Given the description of an element on the screen output the (x, y) to click on. 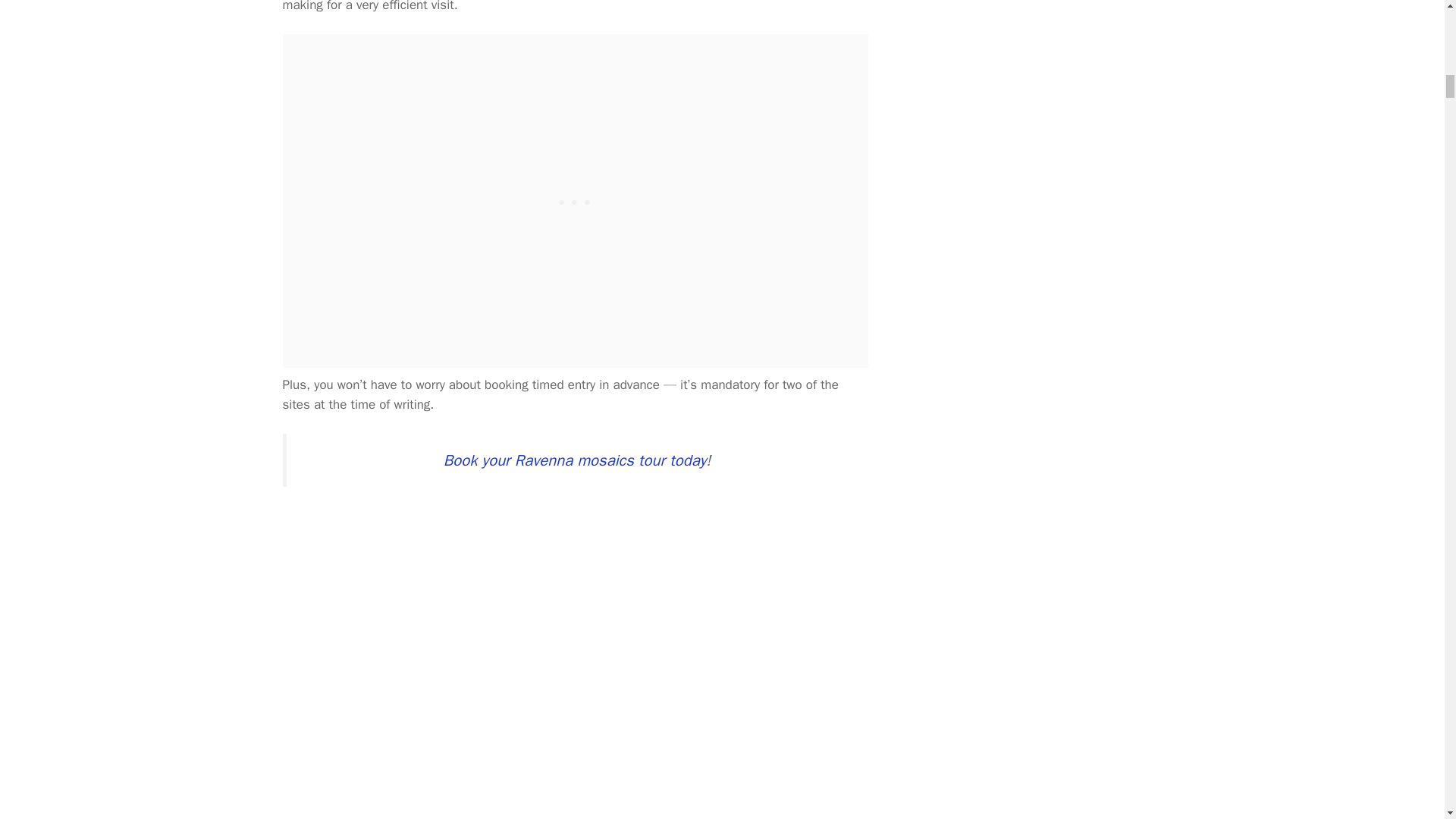
Book your Ravenna mosaics tour today (575, 460)
